Given the description of an element on the screen output the (x, y) to click on. 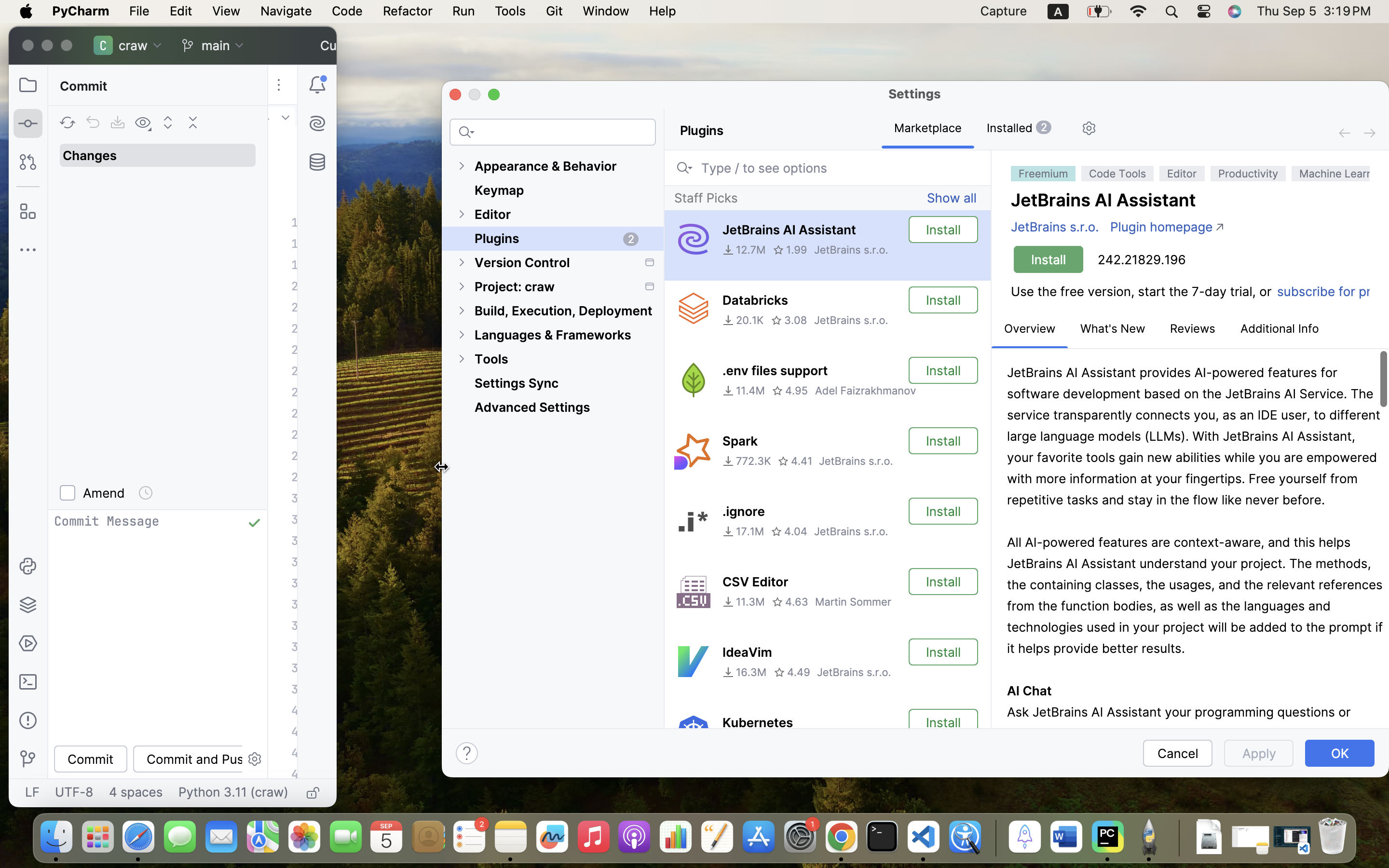
CSV Editor Element type: AXStaticText (755, 581)
.env files support Element type: AXStaticText (774, 370)
4.95 Element type: AXStaticText (789, 390)
Kubernetes Element type: AXStaticText (757, 722)
0 Element type: AXRadioButton (1018, 128)
